Given the description of an element on the screen output the (x, y) to click on. 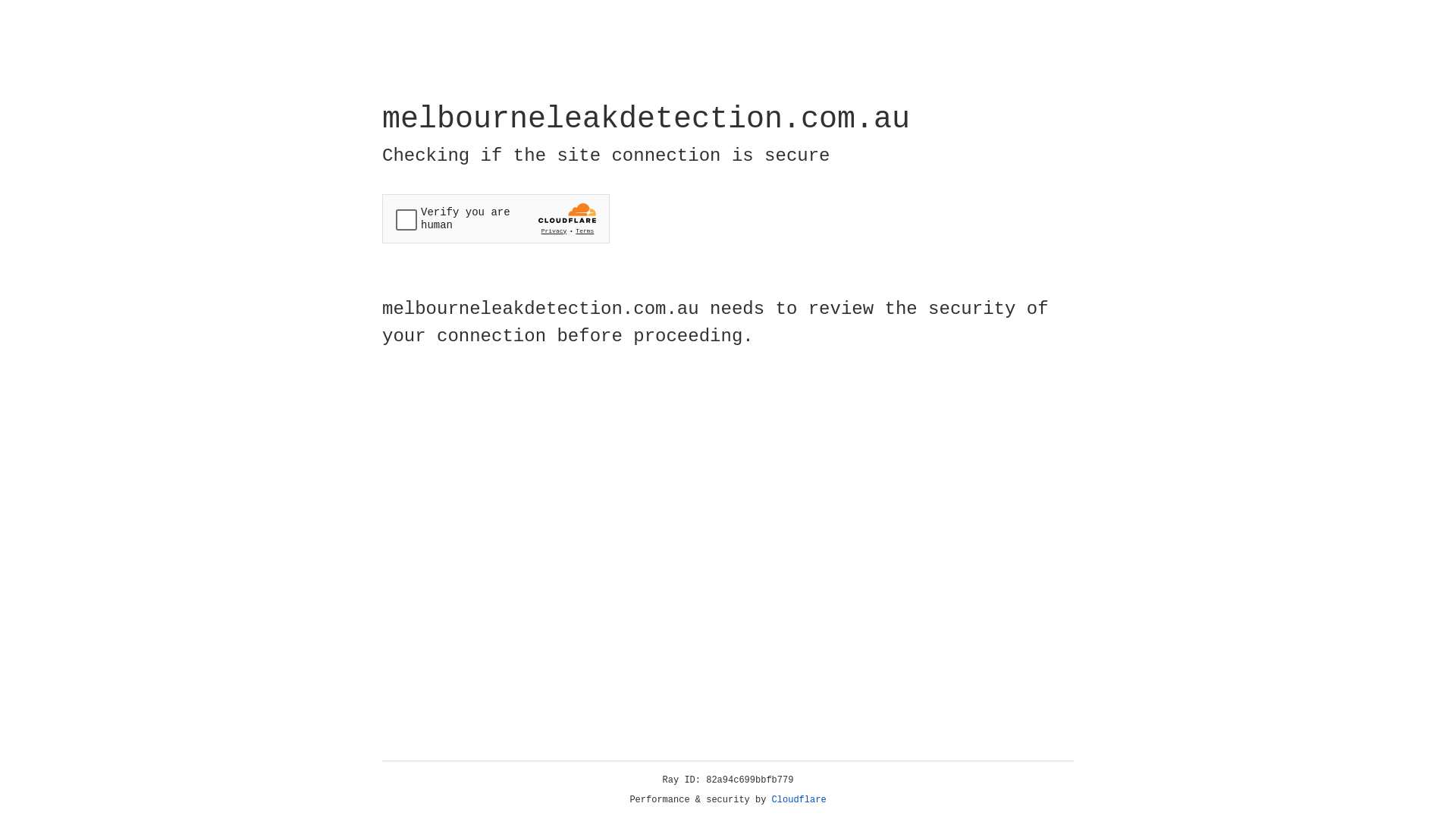
Cloudflare Element type: text (798, 799)
Widget containing a Cloudflare security challenge Element type: hover (495, 218)
